Given the description of an element on the screen output the (x, y) to click on. 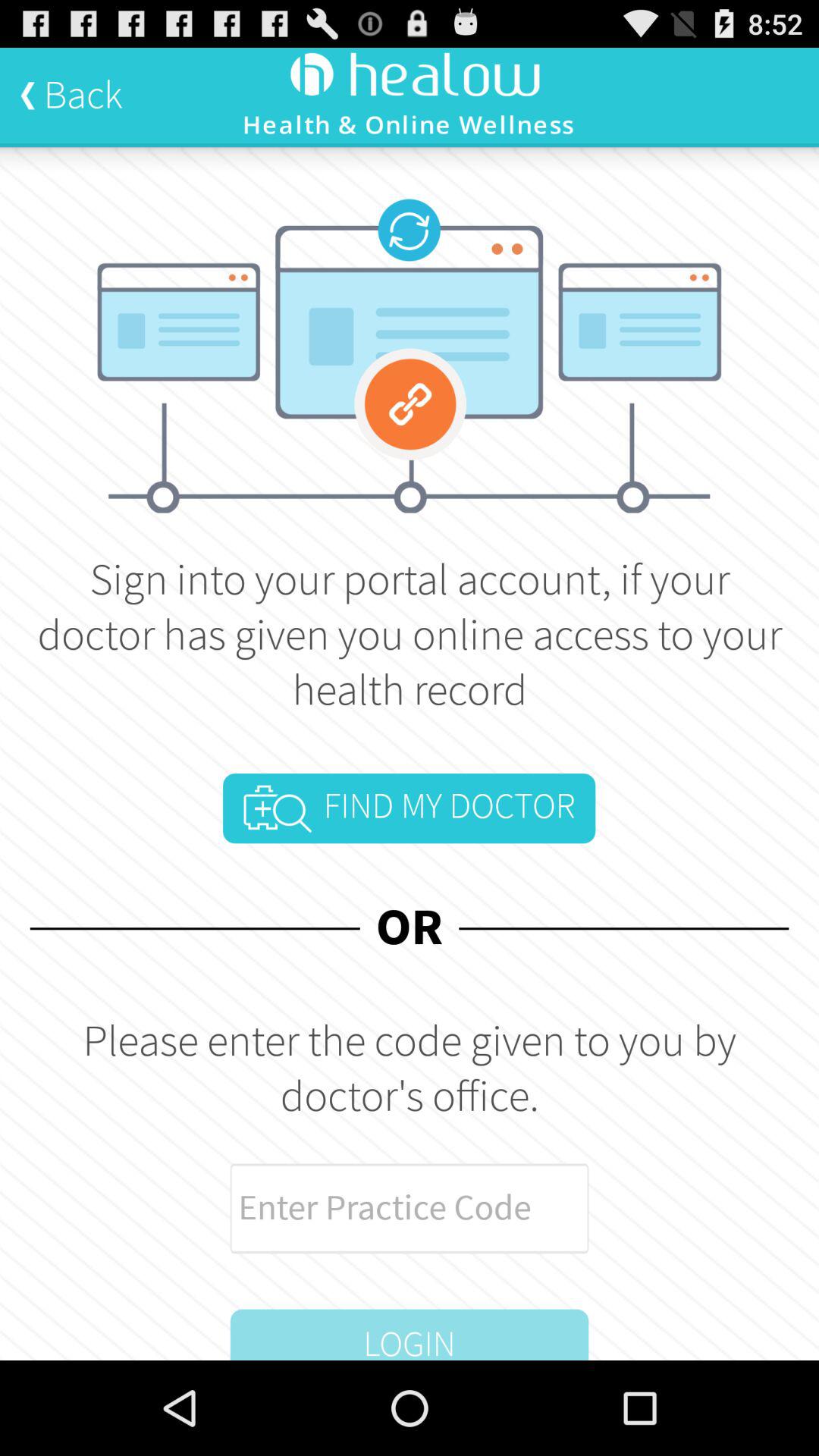
enter practice code (409, 1208)
